Given the description of an element on the screen output the (x, y) to click on. 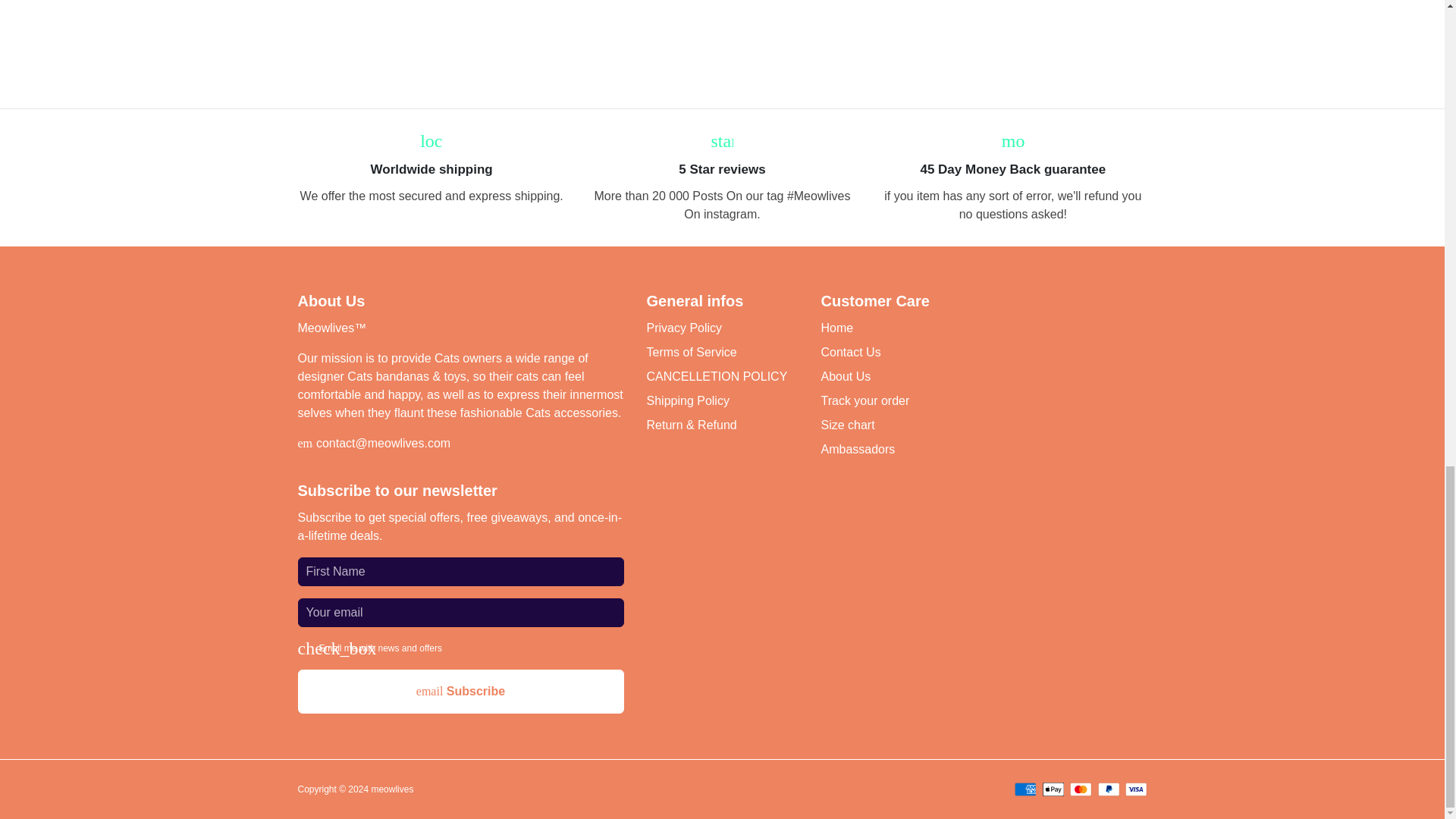
Apple Pay (1052, 789)
American Express (1025, 789)
Visa (1136, 789)
PayPal (1108, 789)
Mastercard (1081, 789)
